Given the description of an element on the screen output the (x, y) to click on. 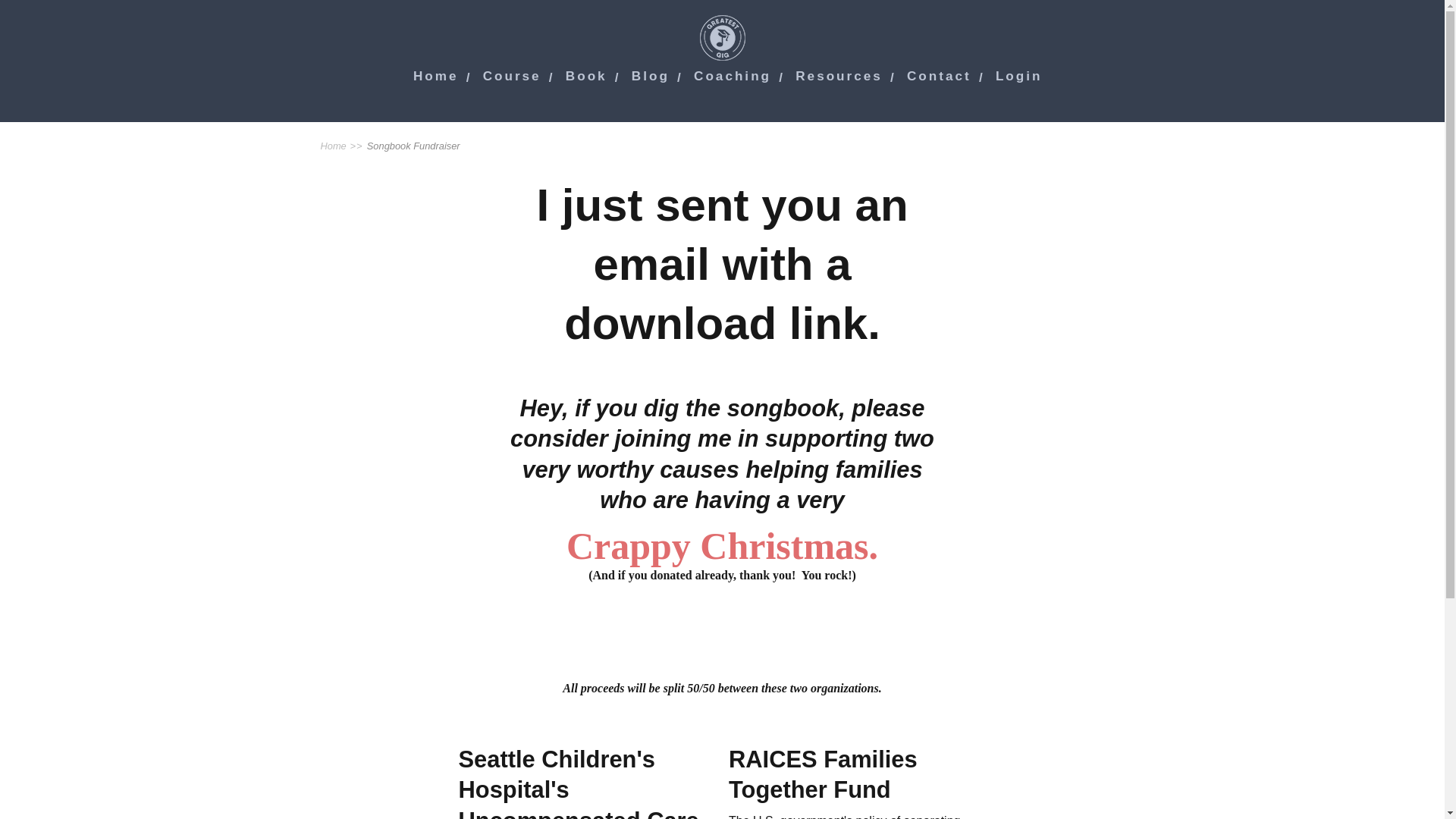
Book (586, 75)
Resources (838, 75)
Home (436, 75)
Login (1018, 75)
Coaching (733, 75)
Blog (650, 75)
Business Coaching for Music Teachers (733, 75)
Contact (938, 75)
Course (512, 75)
